Given the description of an element on the screen output the (x, y) to click on. 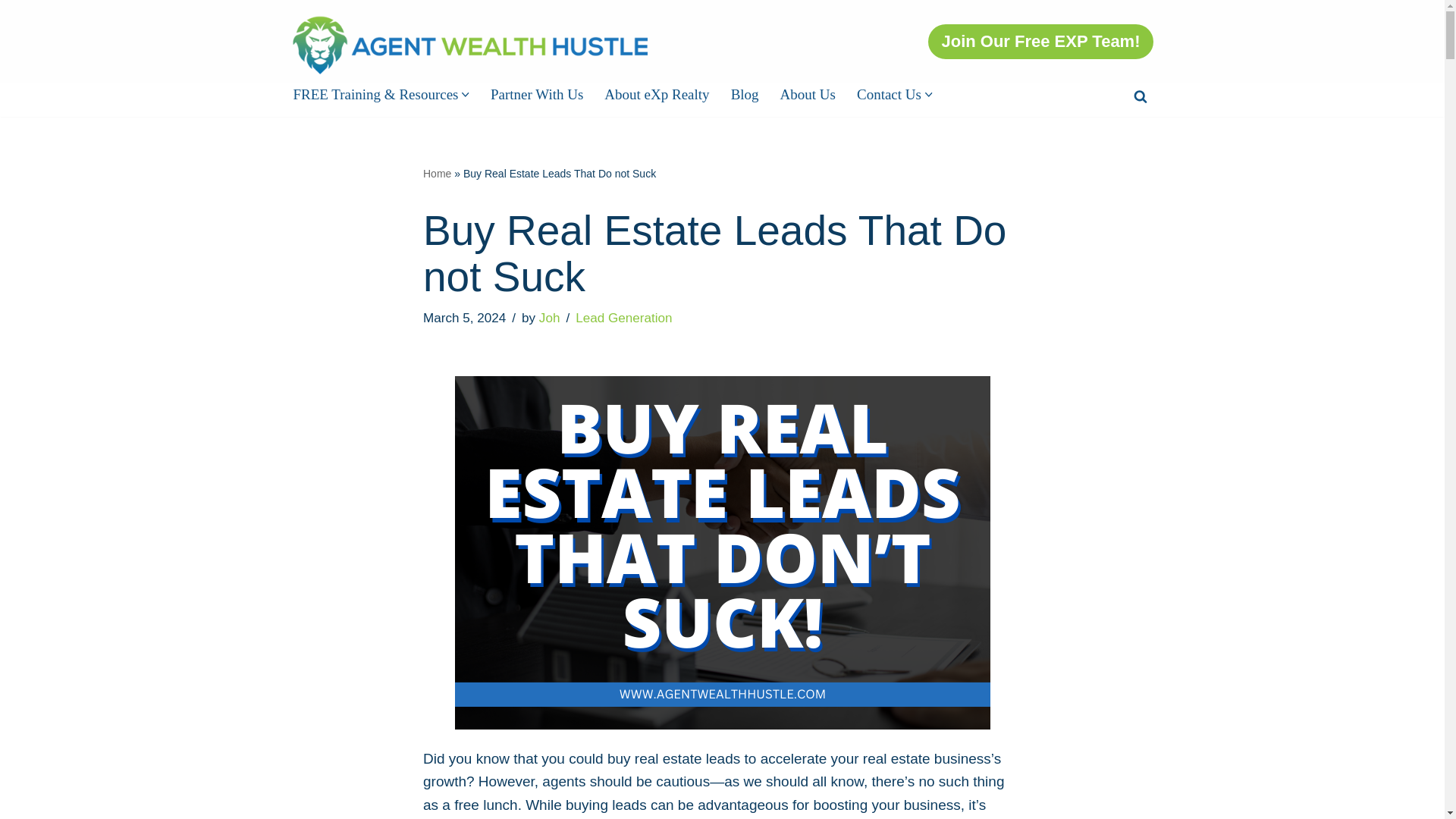
Posts by Joh (549, 318)
Contact Us (889, 94)
Blog (744, 94)
Navigation Menu (1420, 17)
Partner With Us (536, 94)
About Us (807, 94)
About eXp Realty (656, 94)
Skip to content (11, 31)
Join Our Free EXP Team! (1040, 40)
